Given the description of an element on the screen output the (x, y) to click on. 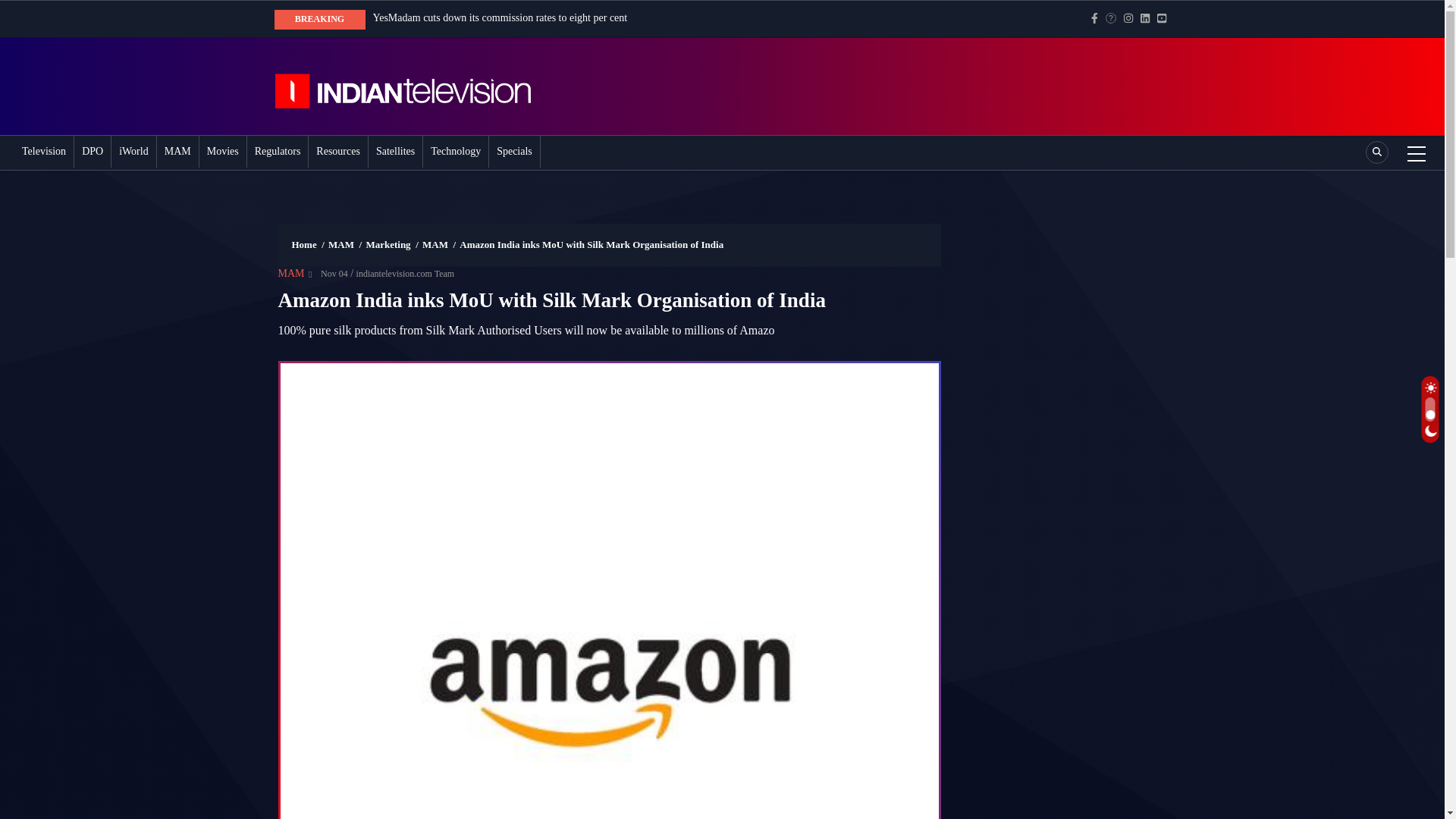
Television (43, 151)
YesMadam cuts down its commission rates to eight per cent (499, 17)
Home (419, 86)
Television (43, 151)
